Given the description of an element on the screen output the (x, y) to click on. 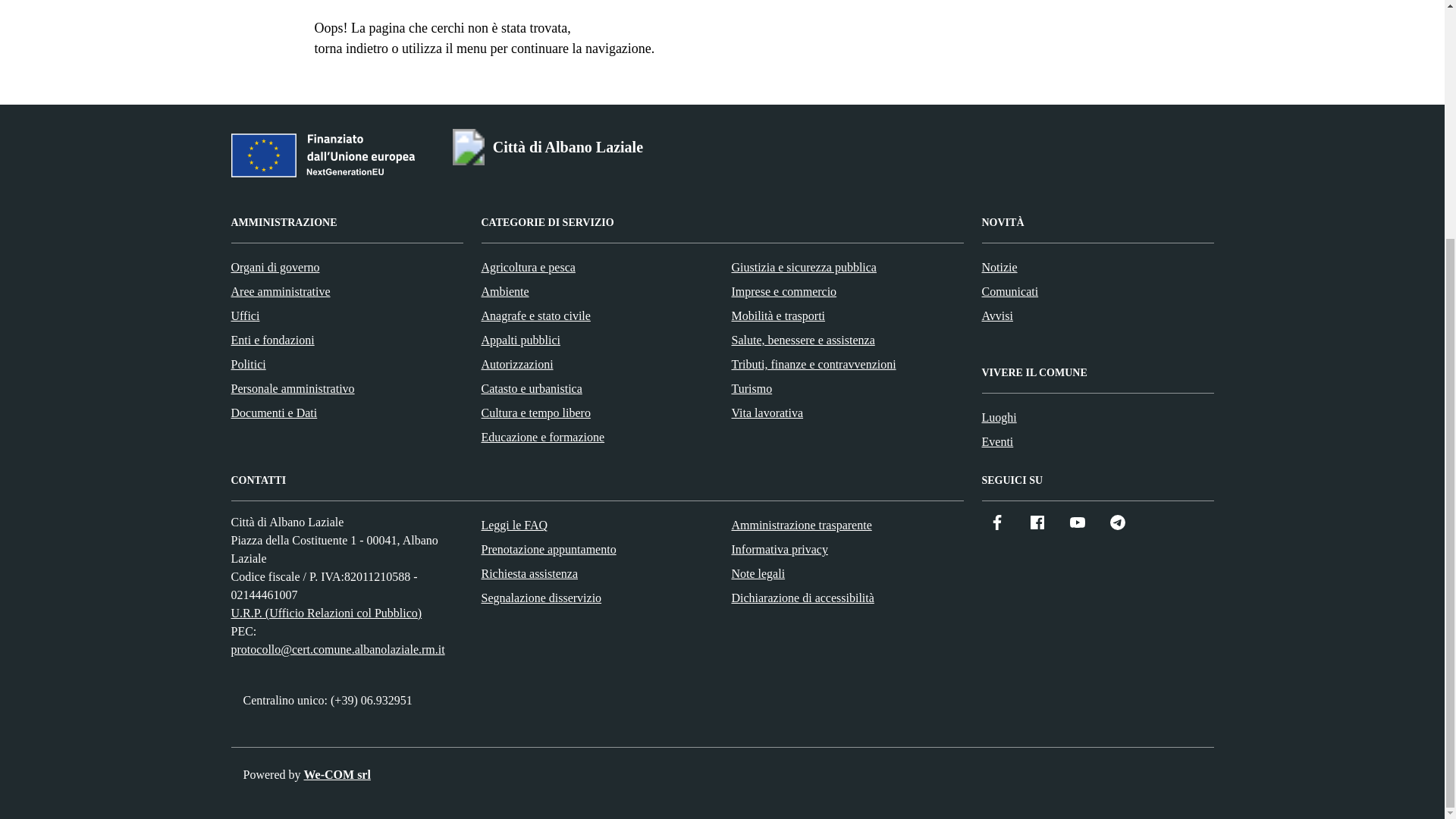
Soluzioni informatiche (335, 774)
Organi di governo (274, 267)
Vai alla pagina: URP (326, 612)
Torna alla pagina precedente (350, 48)
Aree amministrative (280, 291)
torna indietro (350, 48)
